Given the description of an element on the screen output the (x, y) to click on. 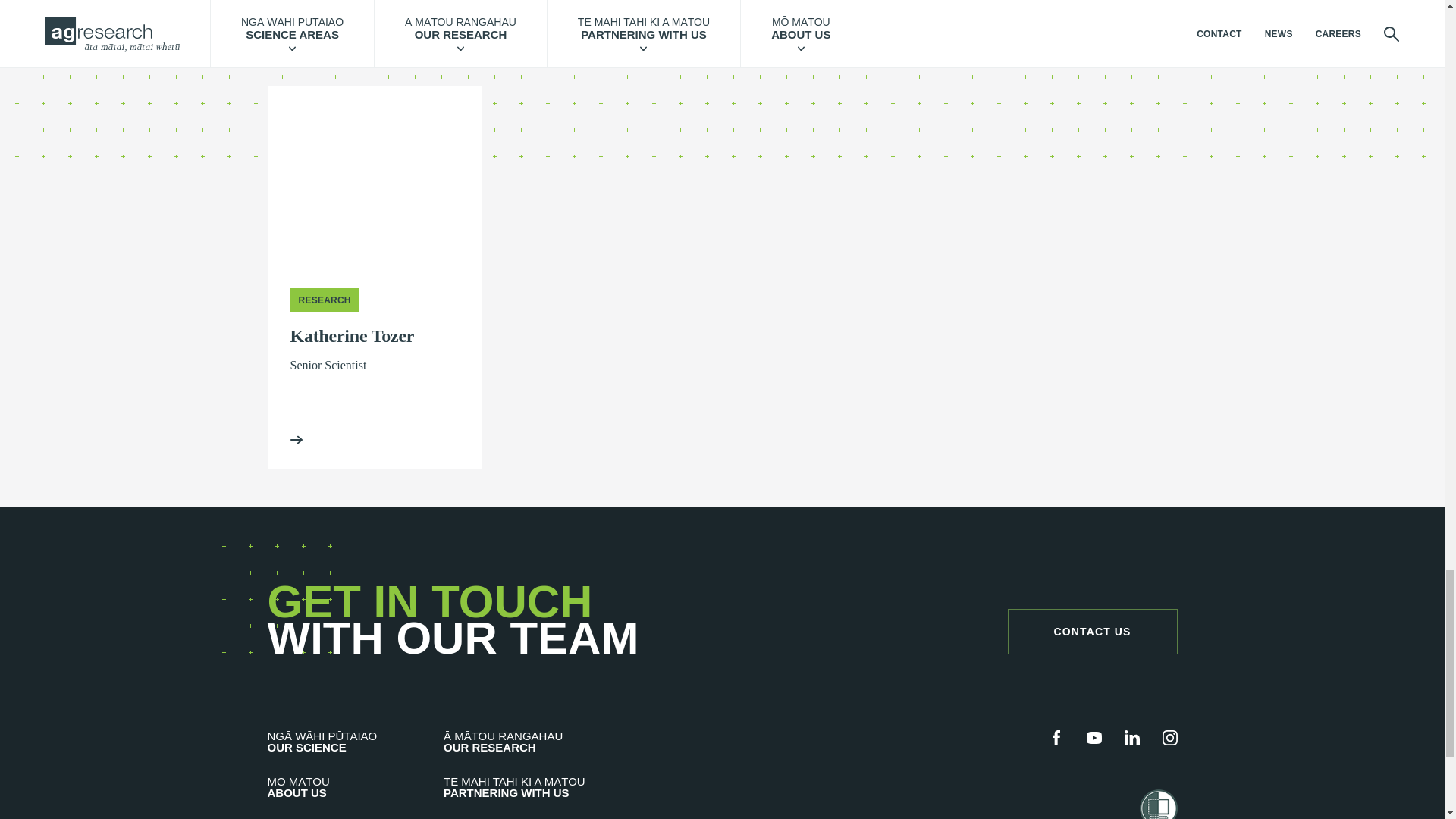
YouTube (1093, 737)
AgResearch on LinkedIn (1131, 737)
AgResearch on Facebook (1055, 737)
Instagram (1168, 737)
AgResearch on Instagram (1168, 737)
Facebook (1055, 737)
AgResearch on YouTube (1093, 737)
LinkedIn (1131, 737)
CONTACT US (1092, 631)
OUR PEOPLE (1092, 15)
